Given the description of an element on the screen output the (x, y) to click on. 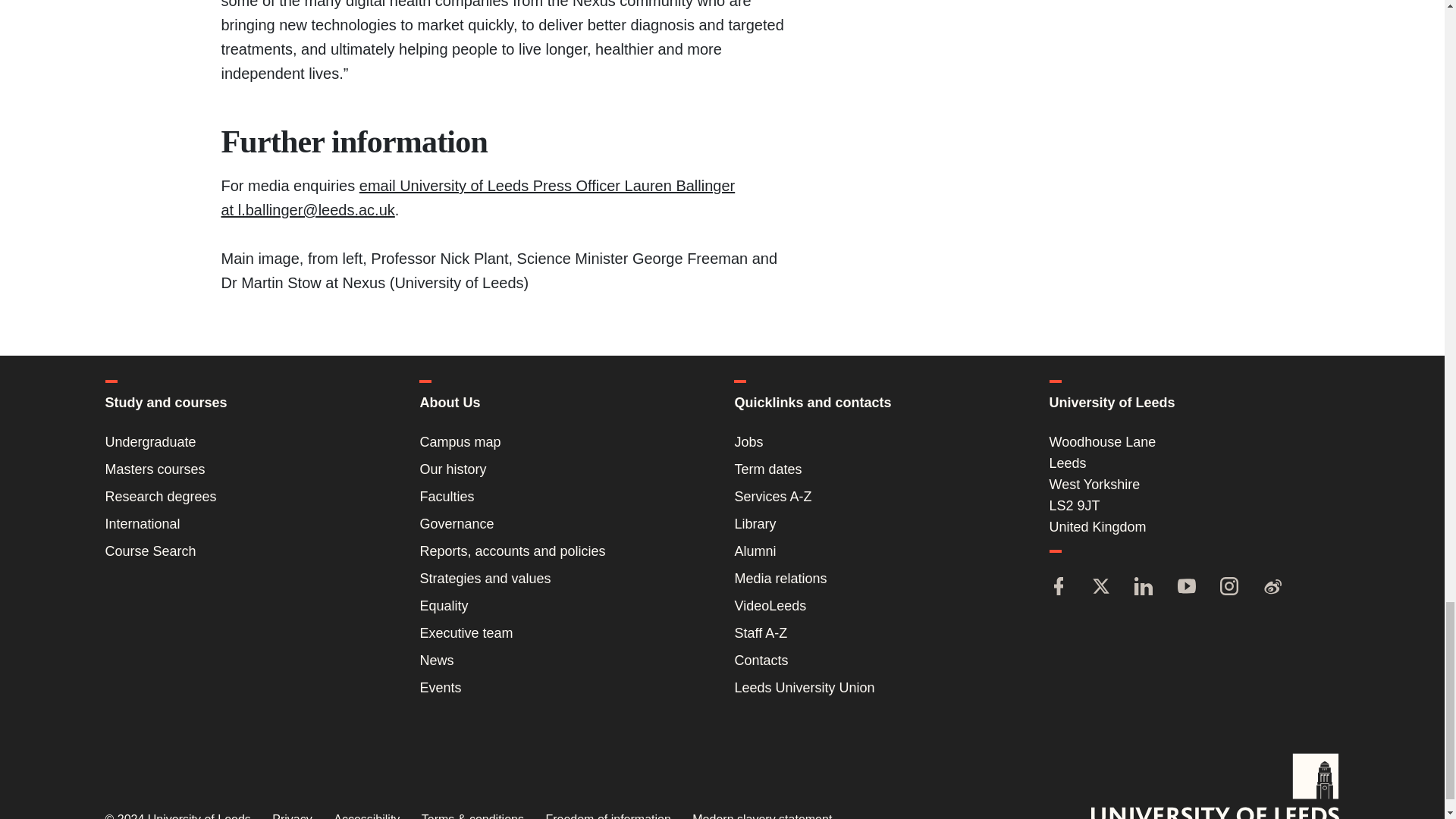
Go to Privacy page (291, 816)
Go to Freedom of information page (606, 816)
Go to Accessibility page (365, 816)
Go to Modern slavery statement page (762, 816)
